Given the description of an element on the screen output the (x, y) to click on. 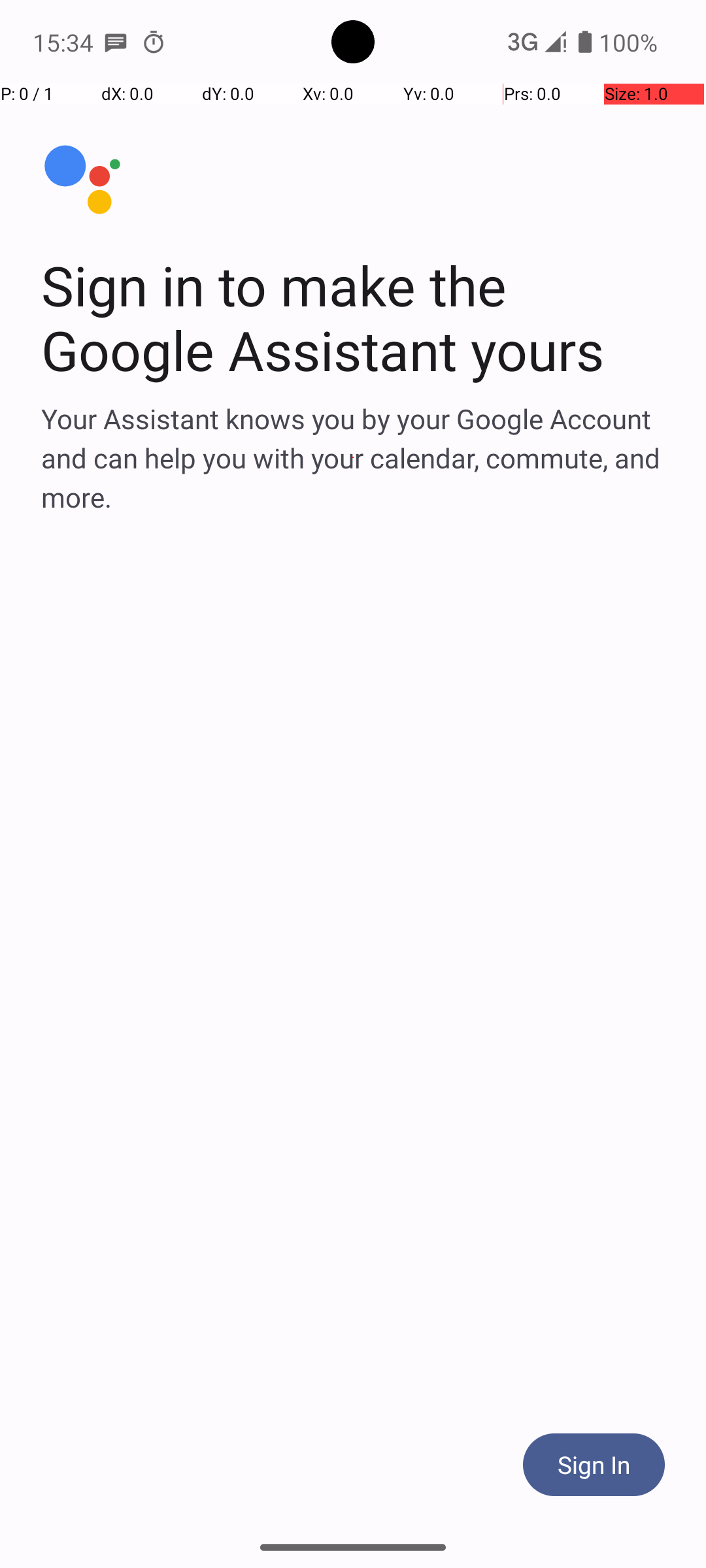
Sign In Element type: android.widget.Button (593, 1464)
Sign in to make the Google Assistant yours Element type: android.widget.TextView (352, 317)
Your Assistant knows you by your Google Account and can help you with your calendar, commute, and more. Element type: android.widget.TextView (352, 457)
